Given the description of an element on the screen output the (x, y) to click on. 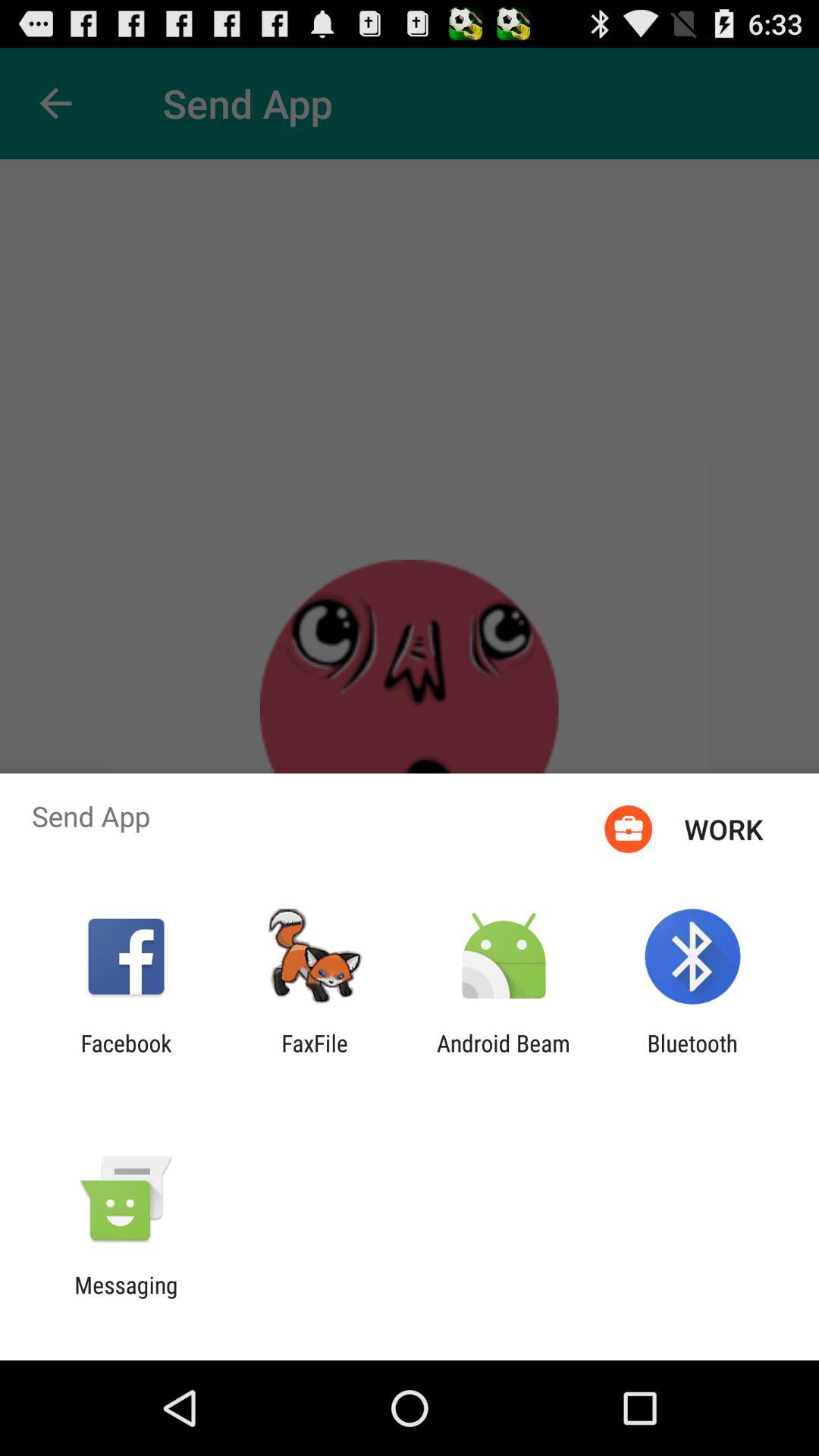
turn off the app to the left of the android beam item (314, 1056)
